Given the description of an element on the screen output the (x, y) to click on. 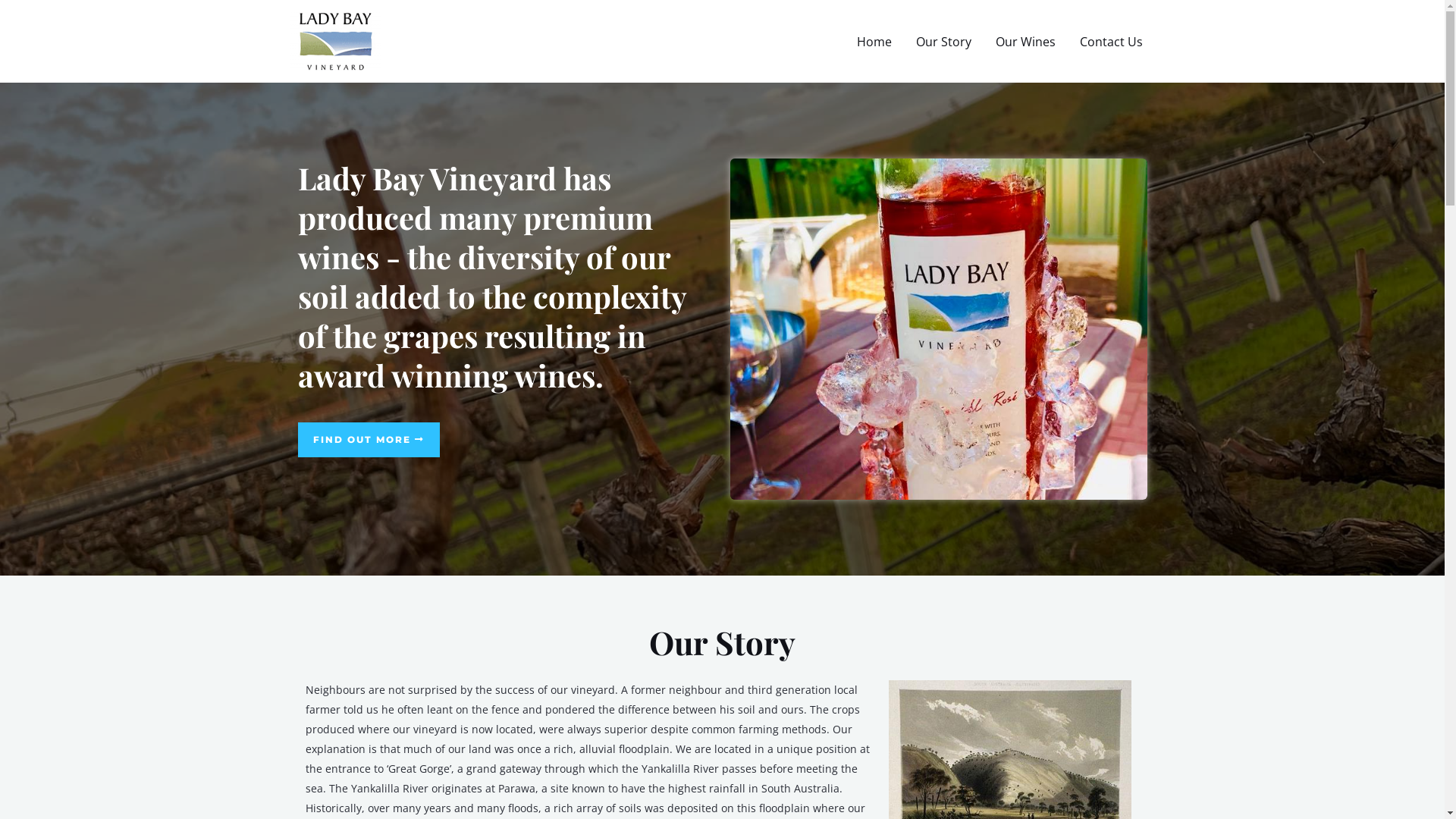
Contact Us Element type: text (1110, 41)
Our Wines Element type: text (1024, 41)
Our Story Element type: text (943, 41)
Home Element type: text (873, 41)
FIND OUT MORE Element type: text (368, 439)
